Given the description of an element on the screen output the (x, y) to click on. 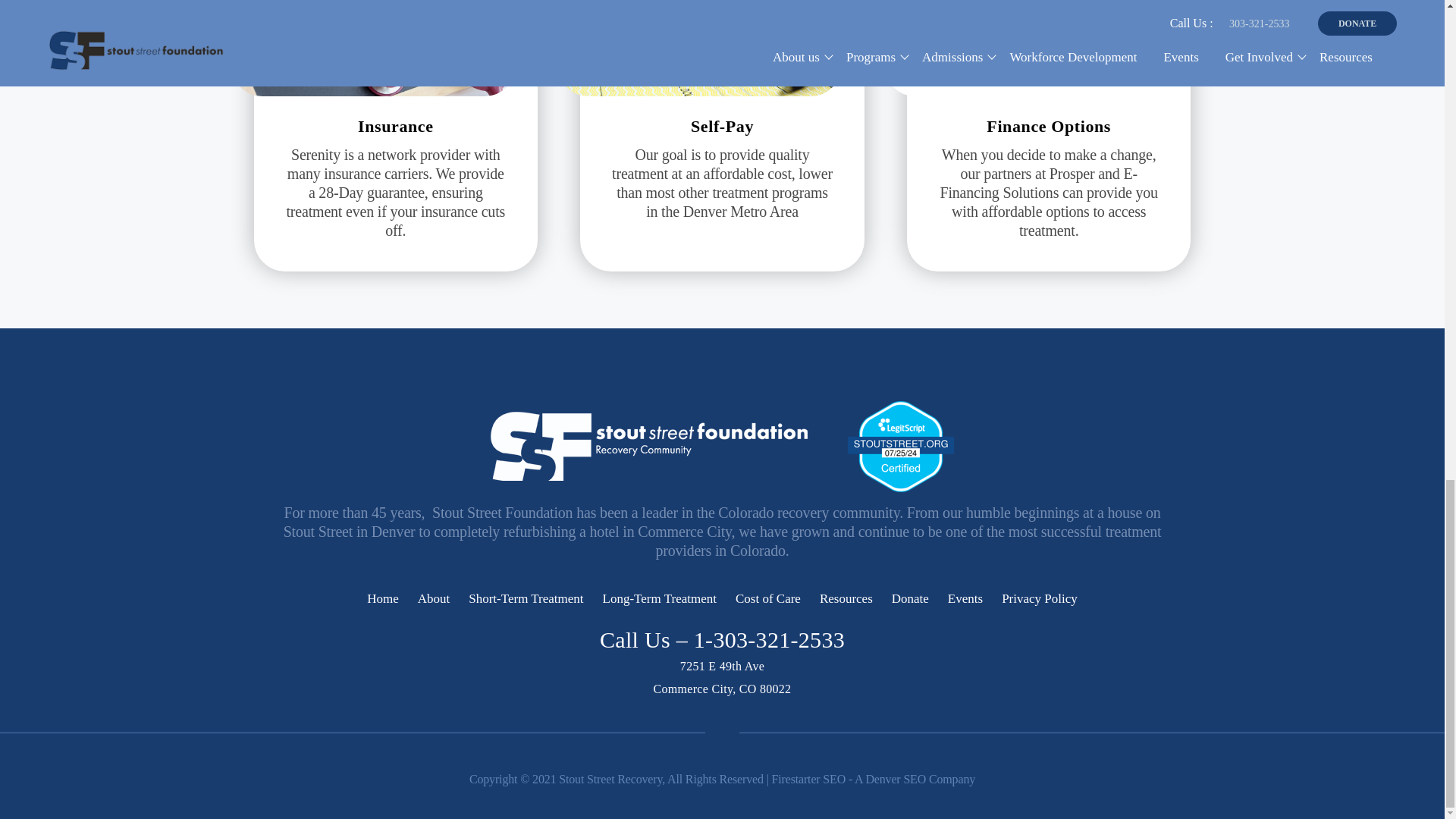
Privacy Policy (1039, 598)
Home (382, 598)
Firestarter SEO - A Denver SEO Company (873, 779)
Cost of Care (767, 598)
Resources (845, 598)
Donate (909, 598)
Events (964, 598)
About (433, 598)
Insurance (395, 126)
Verify LegitScript Approval (900, 443)
View Post (1048, 192)
Long-Term Treatment (659, 598)
Finance Options (1048, 126)
